Given the description of an element on the screen output the (x, y) to click on. 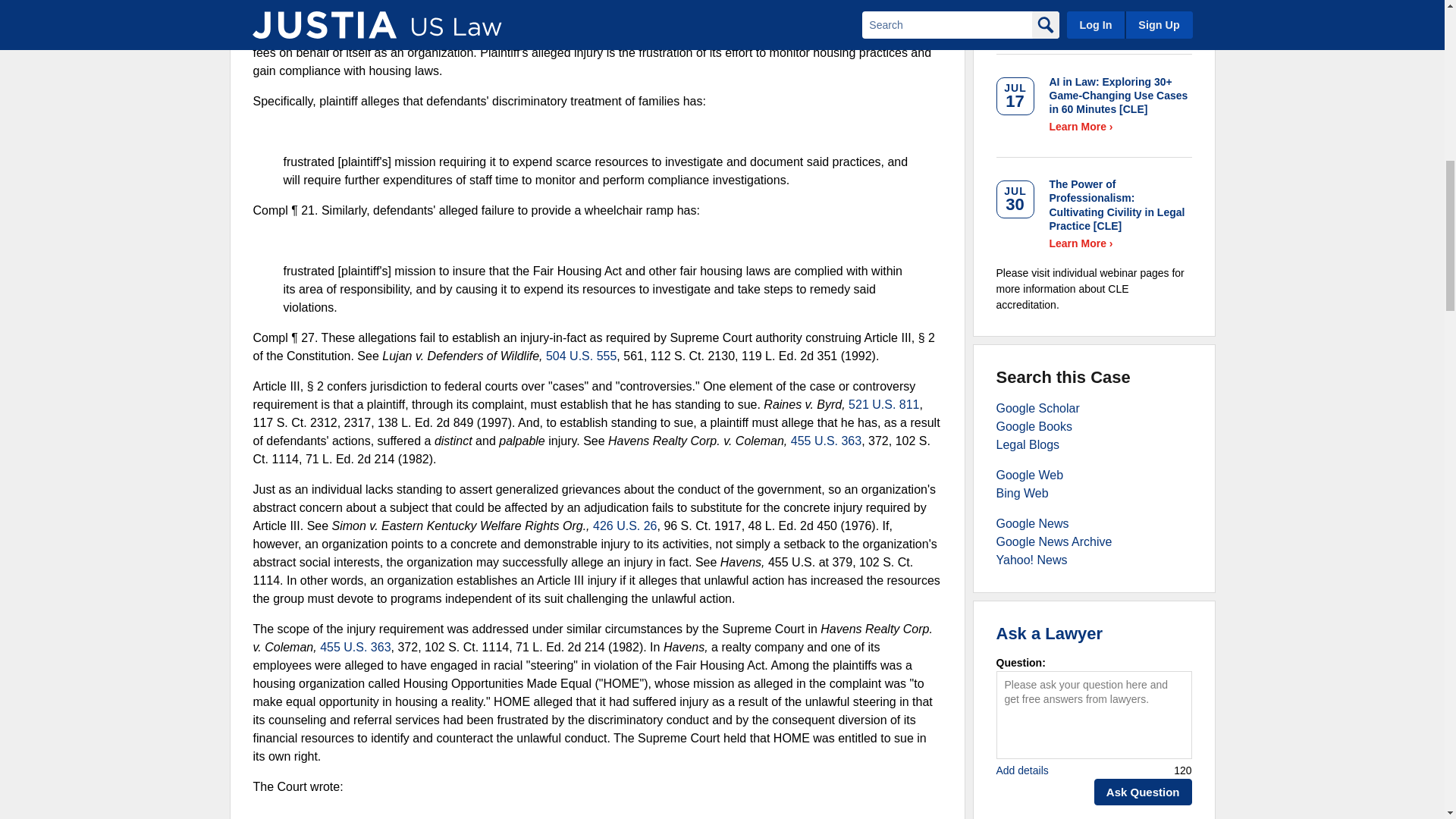
Law - Google Web (1029, 474)
Law - Google Books (1034, 426)
Law - Yahoo! News (1031, 559)
455 U.S. 363 (355, 646)
Law - Google News (1031, 522)
504 U.S. 555 (580, 355)
Law - Google Scholar (1037, 408)
521 U.S. 811 (883, 404)
Law - Legal Blogs (1027, 444)
426 U.S. 26 (625, 525)
Law - Bing Web (1021, 492)
455 U.S. 363 (825, 440)
Law - Google News Archive (1053, 541)
